Given the description of an element on the screen output the (x, y) to click on. 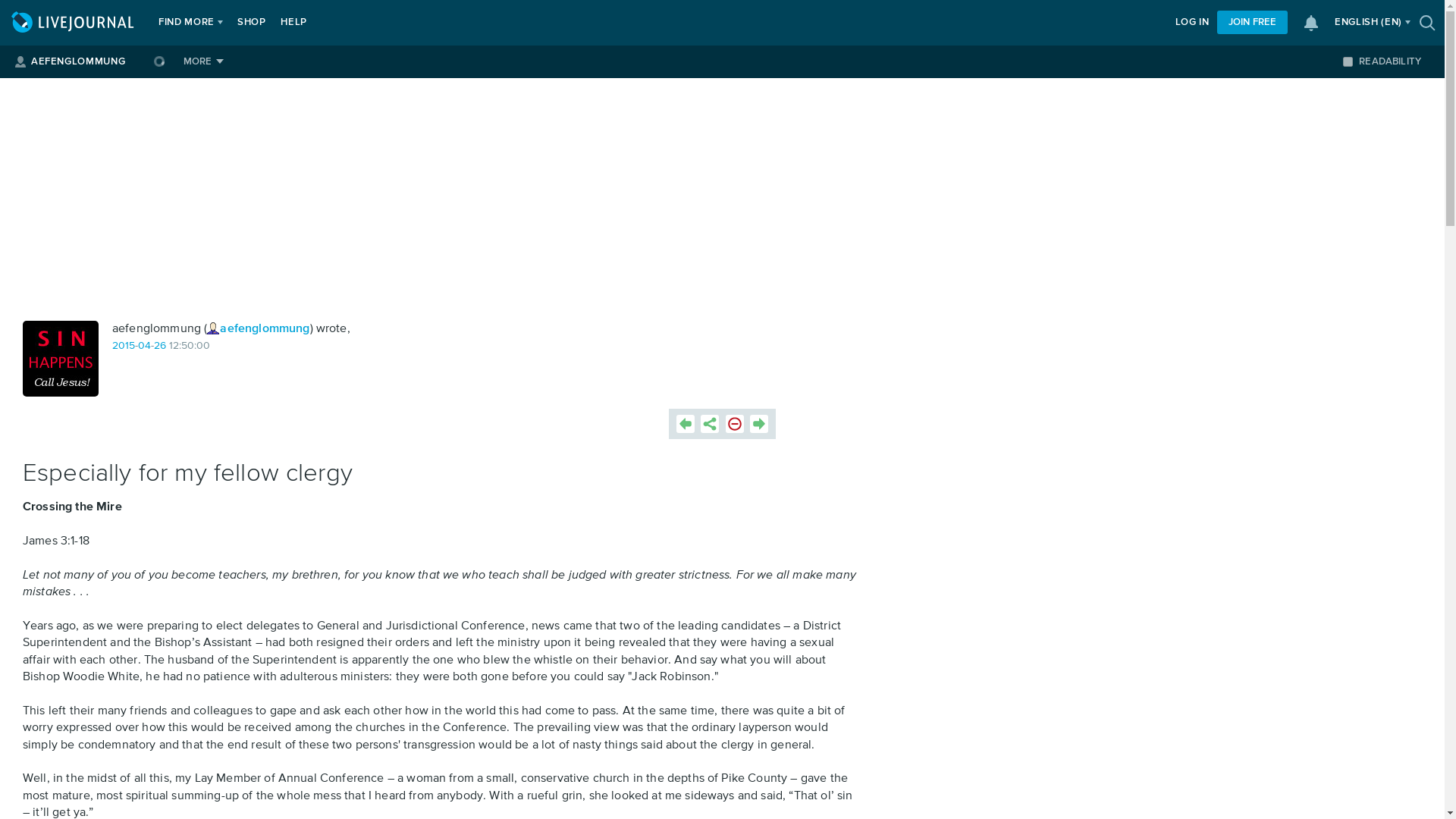
LIVEJOURNAL (73, 22)
HELP (293, 22)
on (1347, 61)
SHOP (251, 22)
JOIN FREE (1252, 22)
FIND MORE (186, 22)
MORE (203, 61)
LOG IN (1192, 22)
aefenglommung: sin happens (61, 358)
AEFENGLOMMUNG (77, 61)
Previous (685, 423)
